Given the description of an element on the screen output the (x, y) to click on. 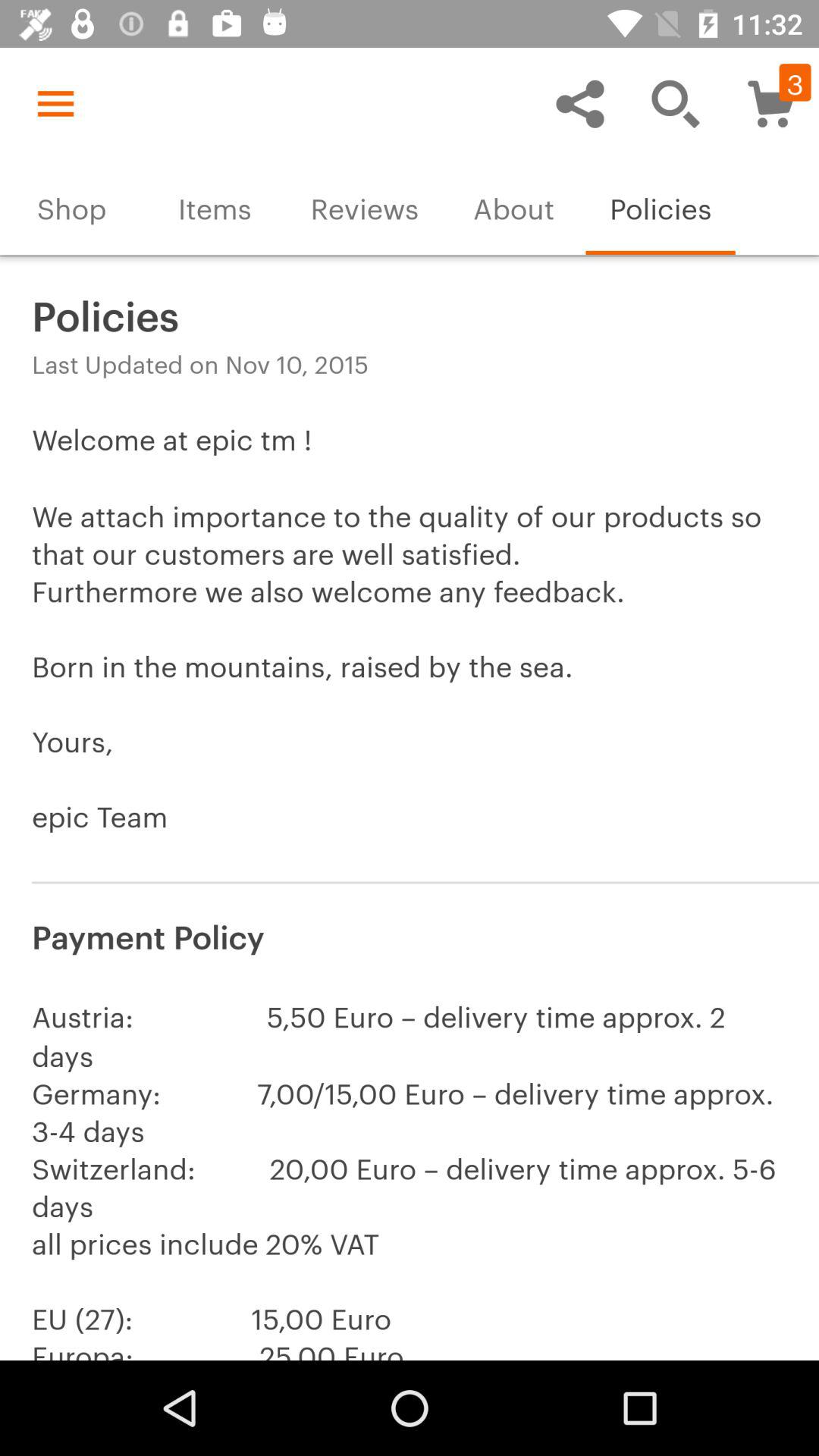
jump to payment policy item (409, 934)
